Given the description of an element on the screen output the (x, y) to click on. 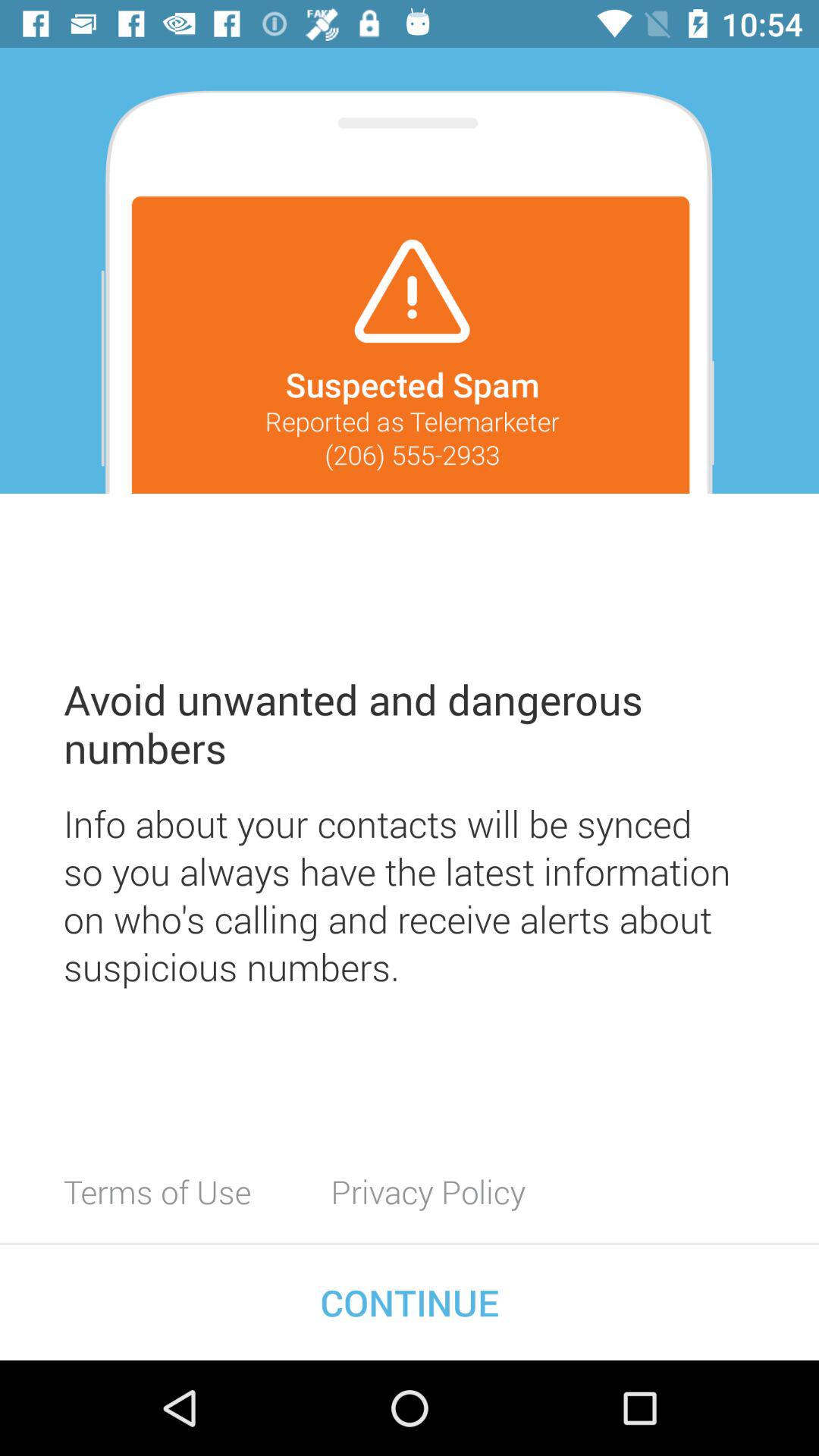
turn off the privacy policy icon (428, 1191)
